Given the description of an element on the screen output the (x, y) to click on. 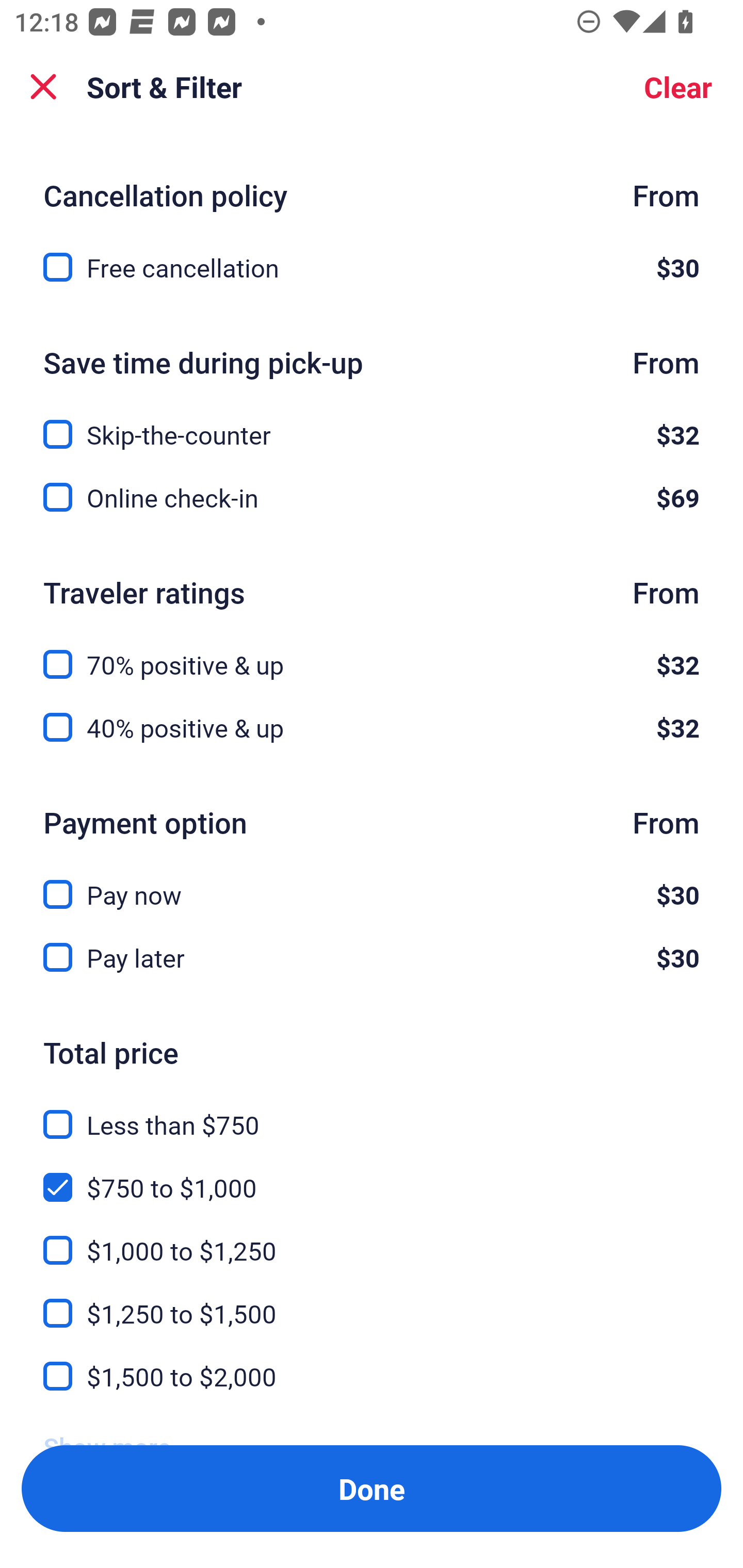
Close Sort and Filter (43, 86)
Clear (677, 86)
Free cancellation, $30 Free cancellation $30 (371, 267)
Skip-the-counter, $32 Skip-the-counter $32 (371, 423)
Online check-in, $69 Online check-in $69 (371, 497)
70% positive & up, $32 70% positive & up $32 (371, 652)
40% positive & up, $32 40% positive & up $32 (371, 728)
Pay now, $30 Pay now $30 (371, 882)
Pay later, $30 Pay later $30 (371, 957)
Less than $750, Less than $750 (371, 1112)
$750 to $1,000, $750 to $1,000 (371, 1175)
$1,000 to $1,250, $1,000 to $1,250 (371, 1238)
$1,250 to $1,500, $1,250 to $1,500 (371, 1301)
$1,500 to $2,000, $1,500 to $2,000 (371, 1376)
Apply and close Sort and Filter Done (371, 1488)
